Given the description of an element on the screen output the (x, y) to click on. 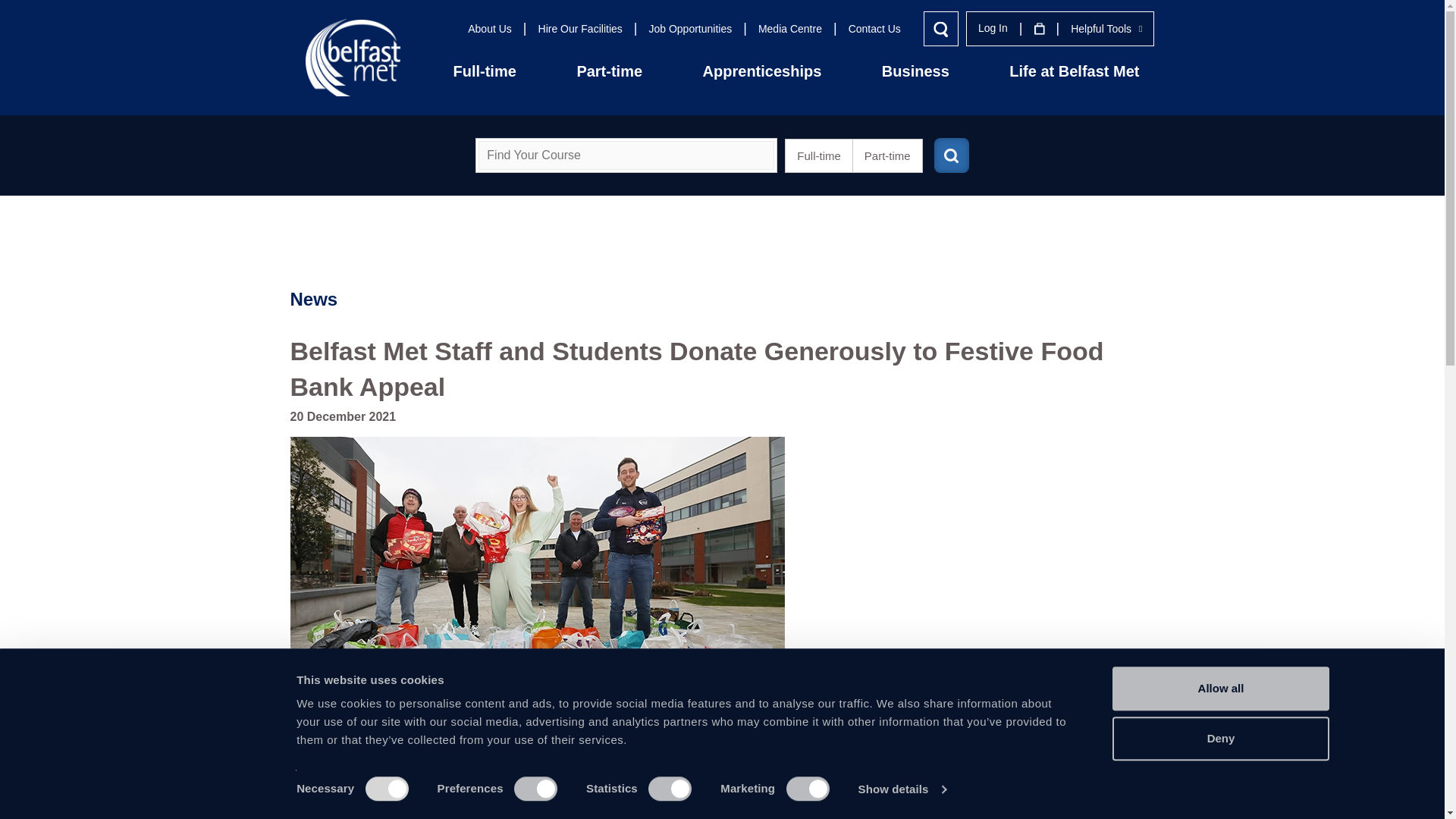
Show details (900, 789)
Deny (1219, 738)
Allow all (1219, 688)
